Given the description of an element on the screen output the (x, y) to click on. 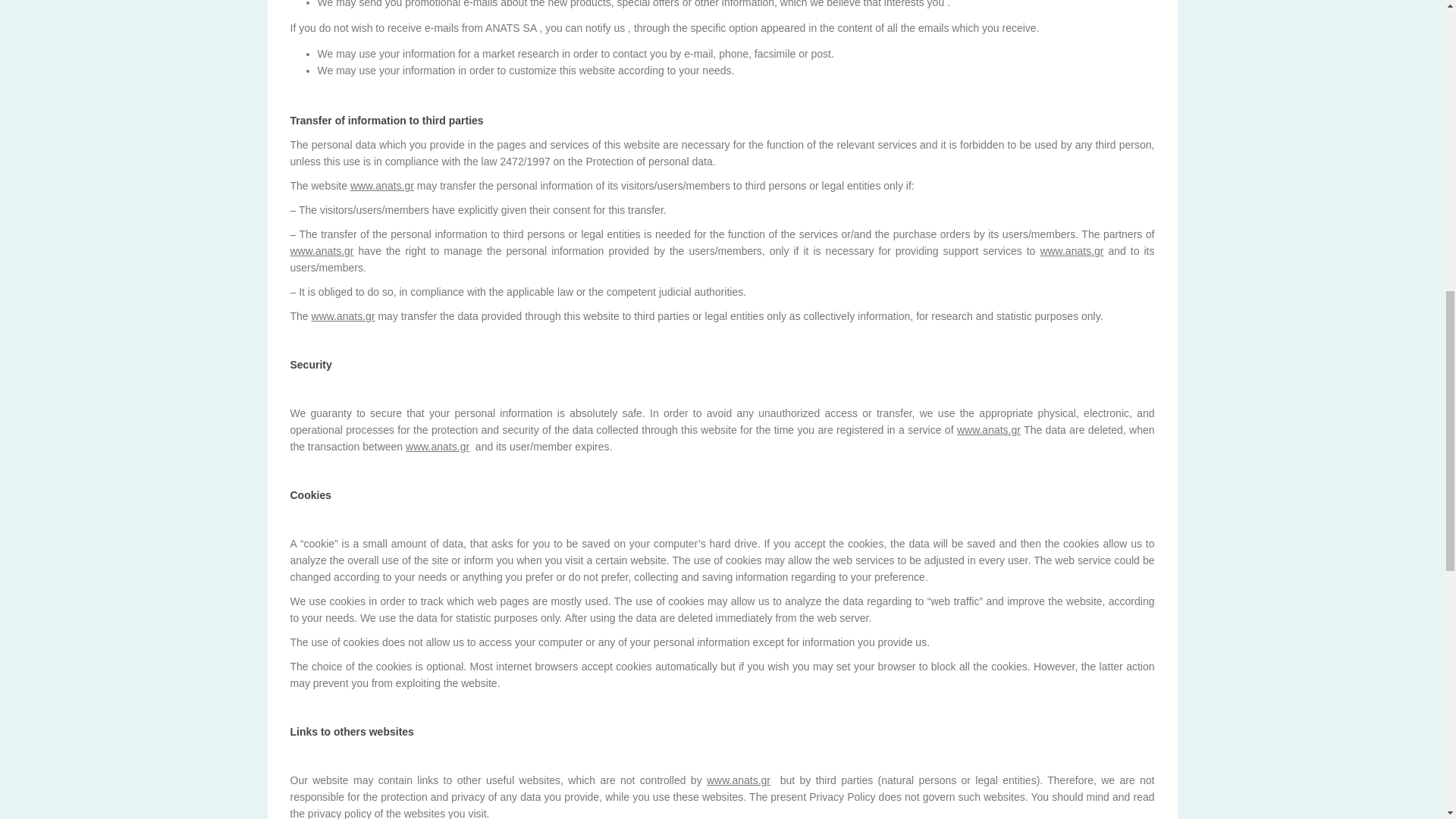
www.anats.gr (321, 250)
www.anats.gr (1071, 250)
www.anats.gr (988, 429)
www.anats.gr (437, 446)
www.anats.gr (343, 316)
www.anats.gr (738, 779)
www.anats.gr (381, 185)
